Given the description of an element on the screen output the (x, y) to click on. 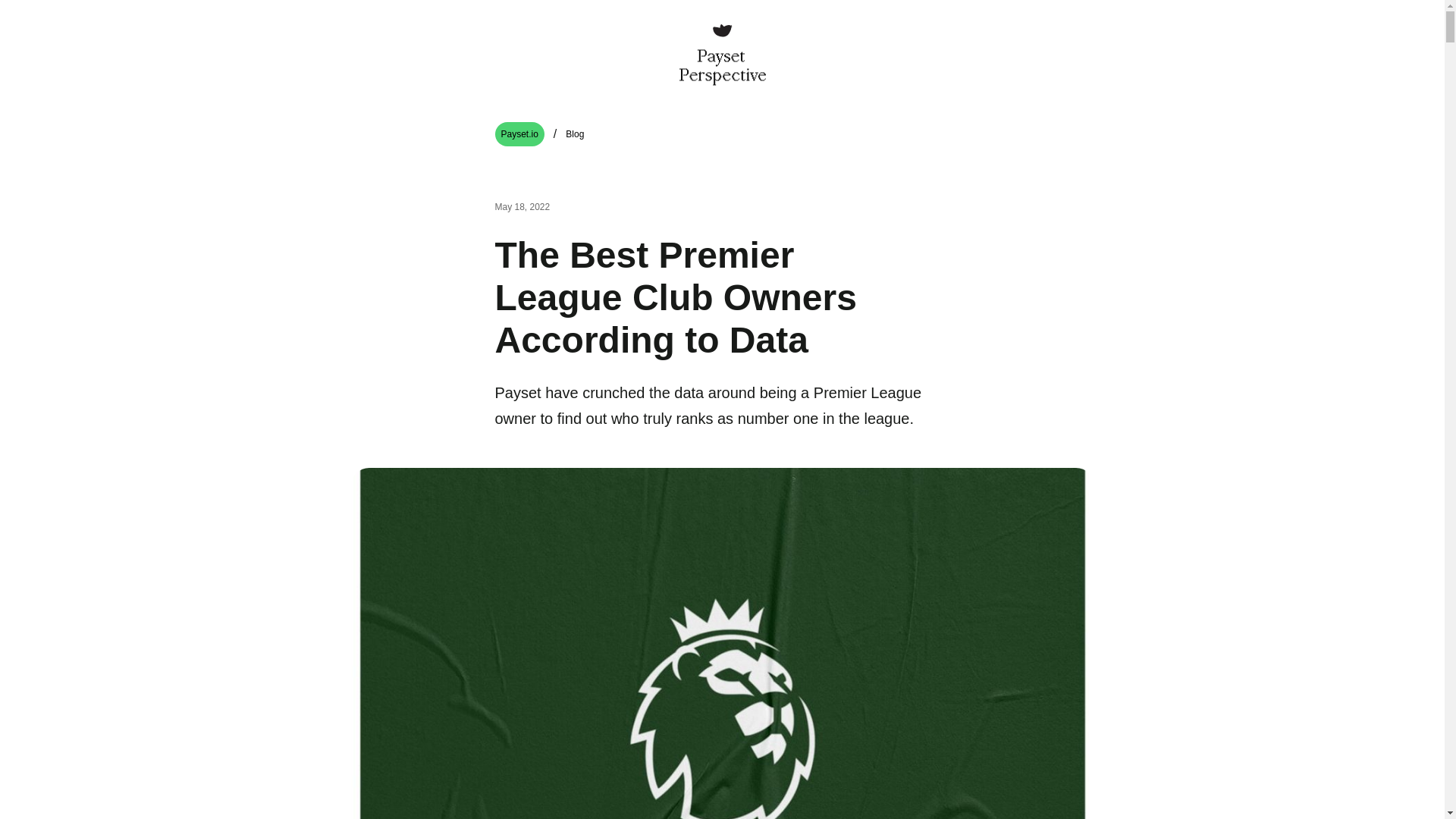
Blog (574, 134)
Payset.io (519, 134)
